Given the description of an element on the screen output the (x, y) to click on. 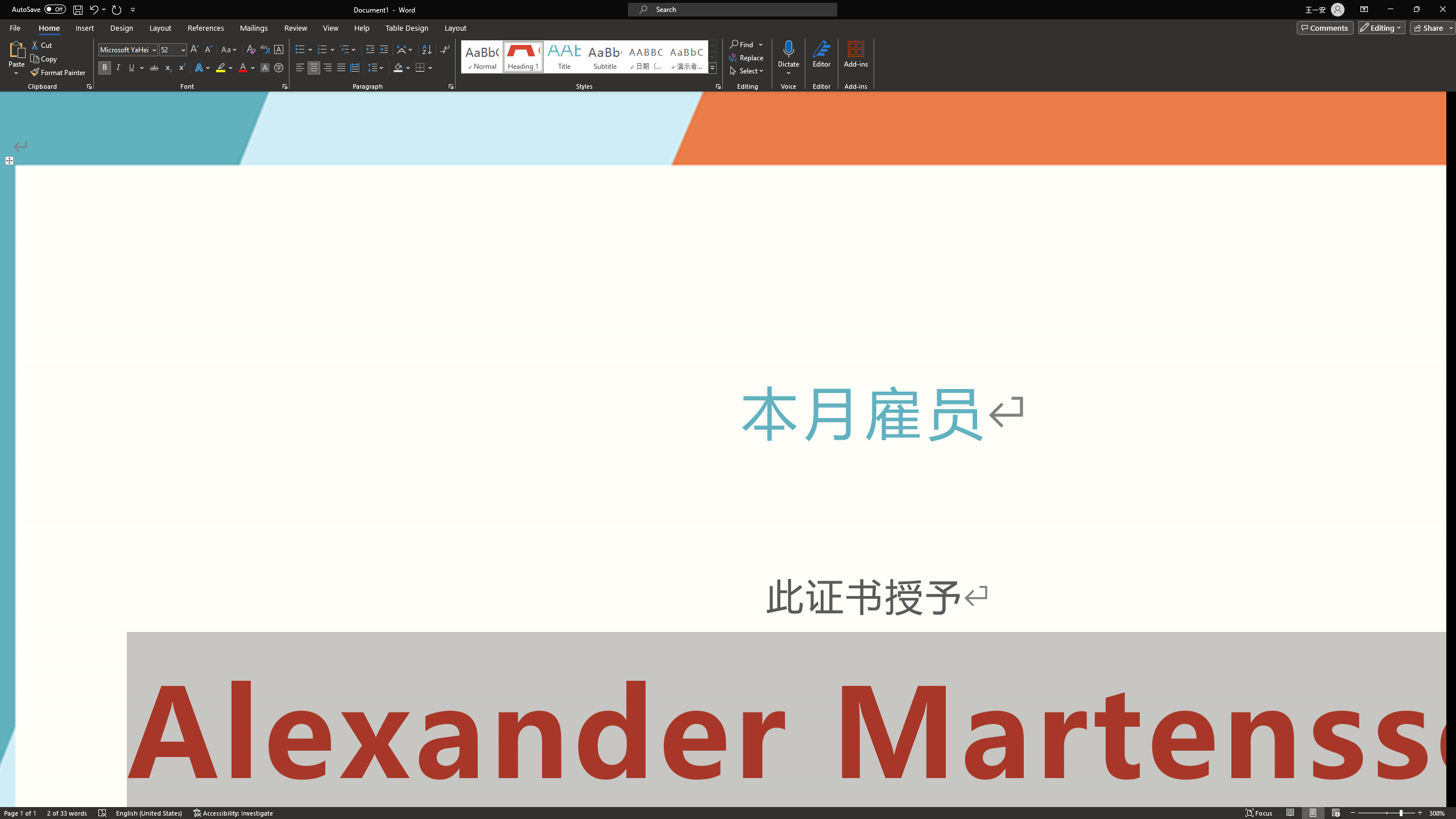
Page left (63, 778)
Line up (1450, 96)
